Given the description of an element on the screen output the (x, y) to click on. 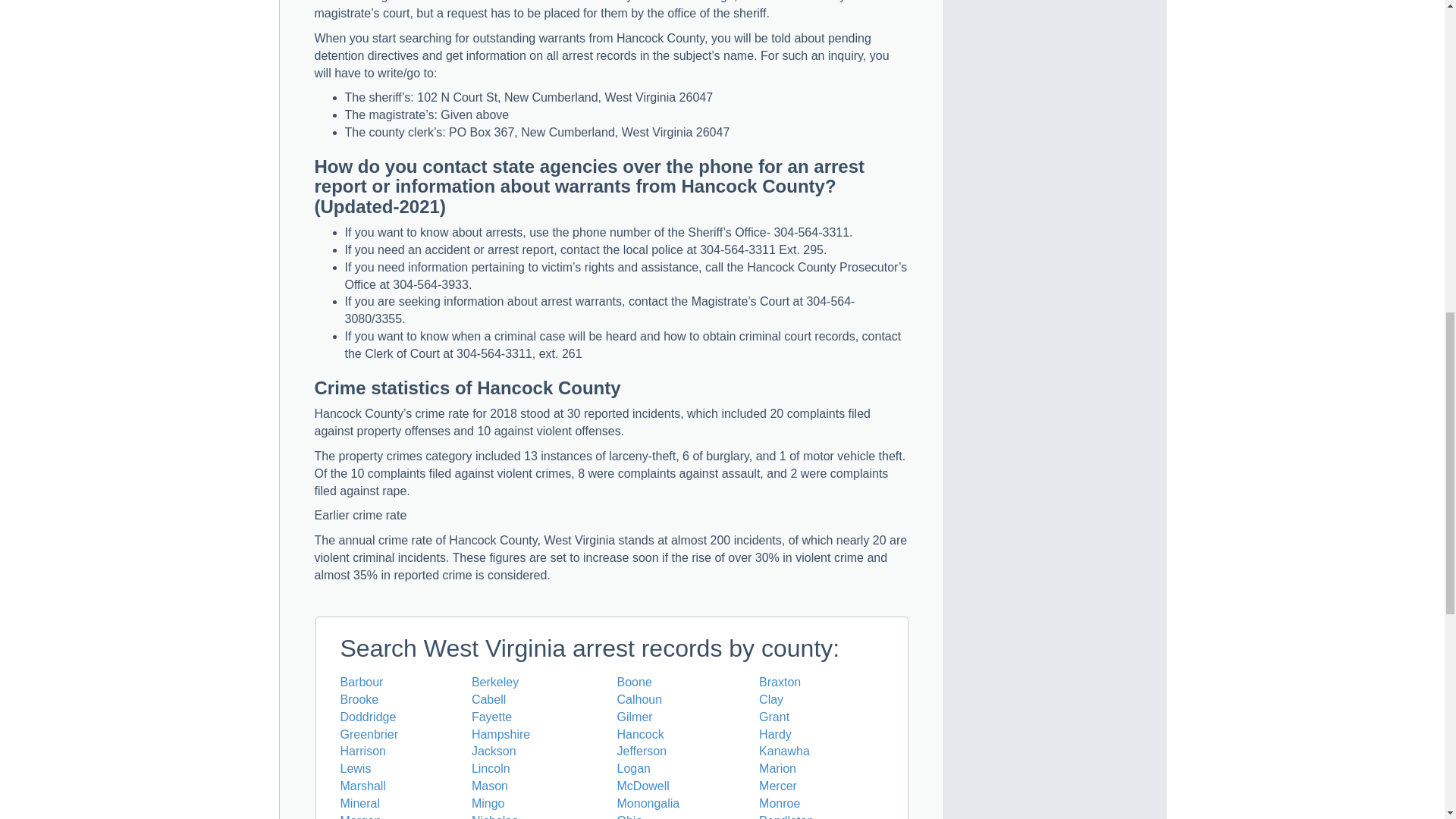
Jackson (493, 750)
Marshall (362, 785)
Fayette (491, 716)
Lincoln (491, 768)
Berkeley (494, 681)
Kanawha (783, 750)
Mineral (358, 802)
Barbour (360, 681)
Mercer (777, 785)
Boone (634, 681)
Logan (633, 768)
Calhoun (639, 698)
Harrison (362, 750)
Cabell (488, 698)
McDowell (643, 785)
